Given the description of an element on the screen output the (x, y) to click on. 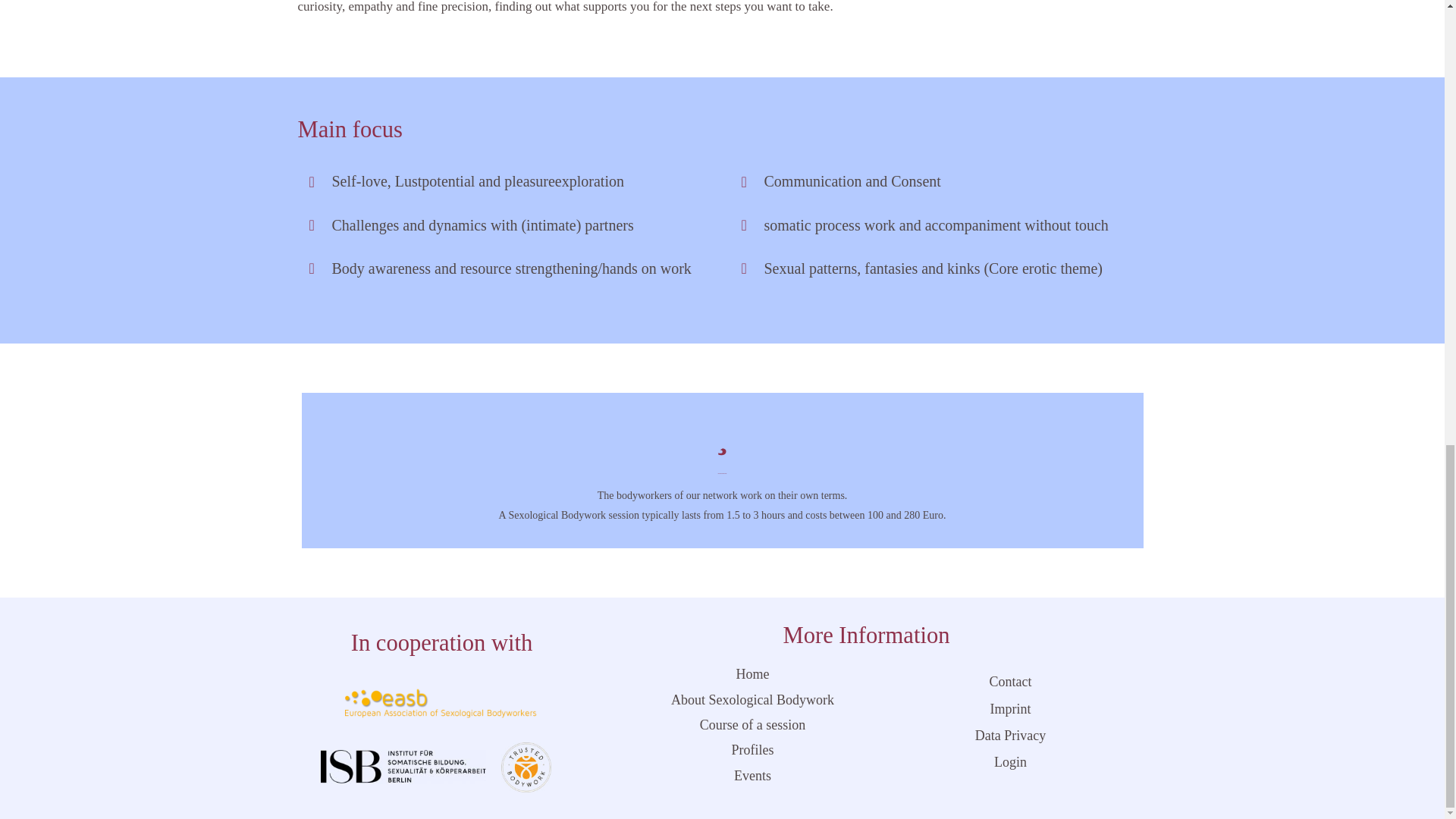
Events (752, 775)
Contact (1010, 681)
Profiles (752, 749)
About Sexological Bodywork (752, 699)
Course of a session (752, 724)
Imprint (1010, 708)
Home (752, 674)
